Given the description of an element on the screen output the (x, y) to click on. 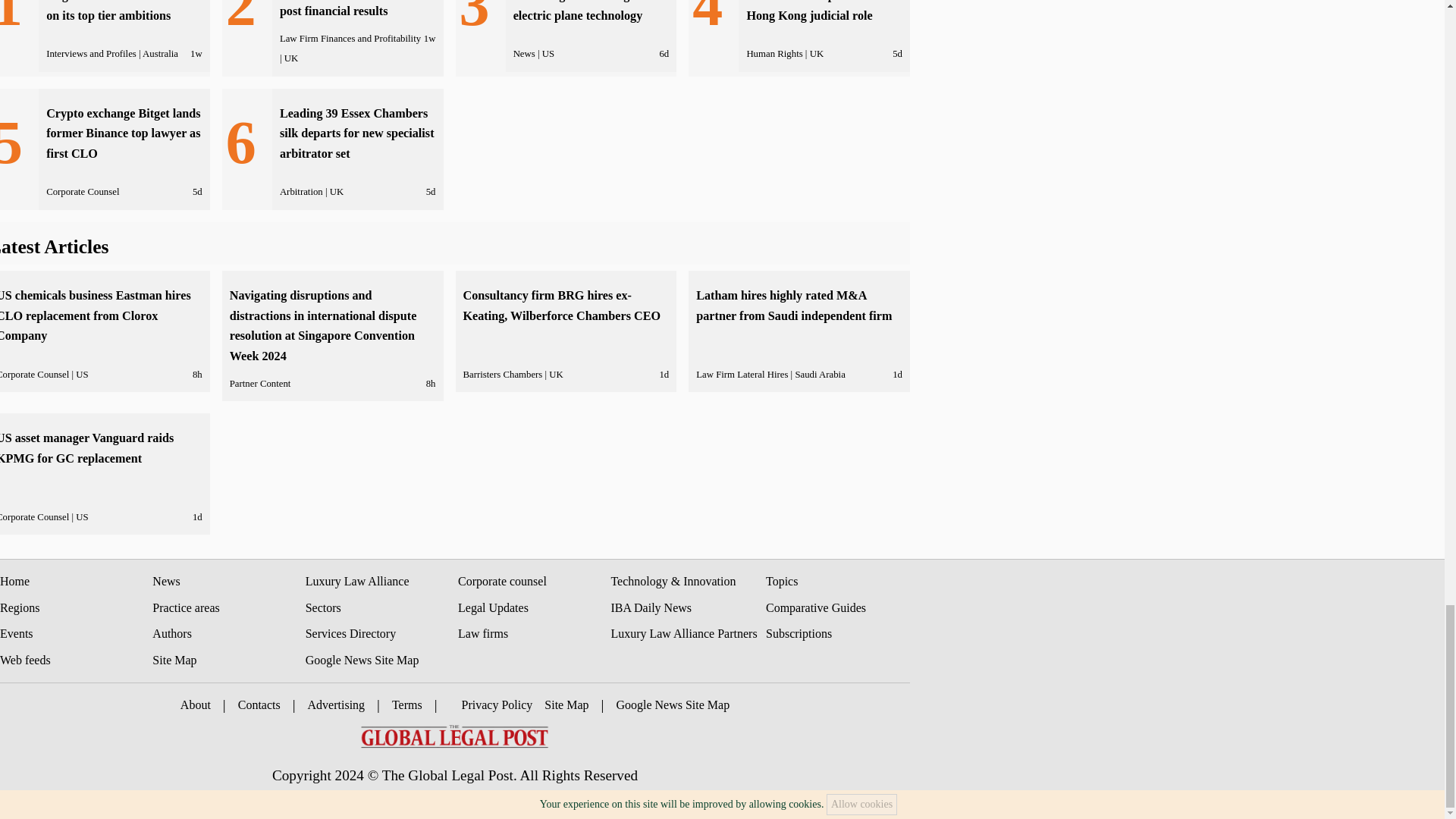
Australia (159, 53)
Law Firm Finances and Profitability (349, 38)
Interviews and Profiles (91, 53)
